Given the description of an element on the screen output the (x, y) to click on. 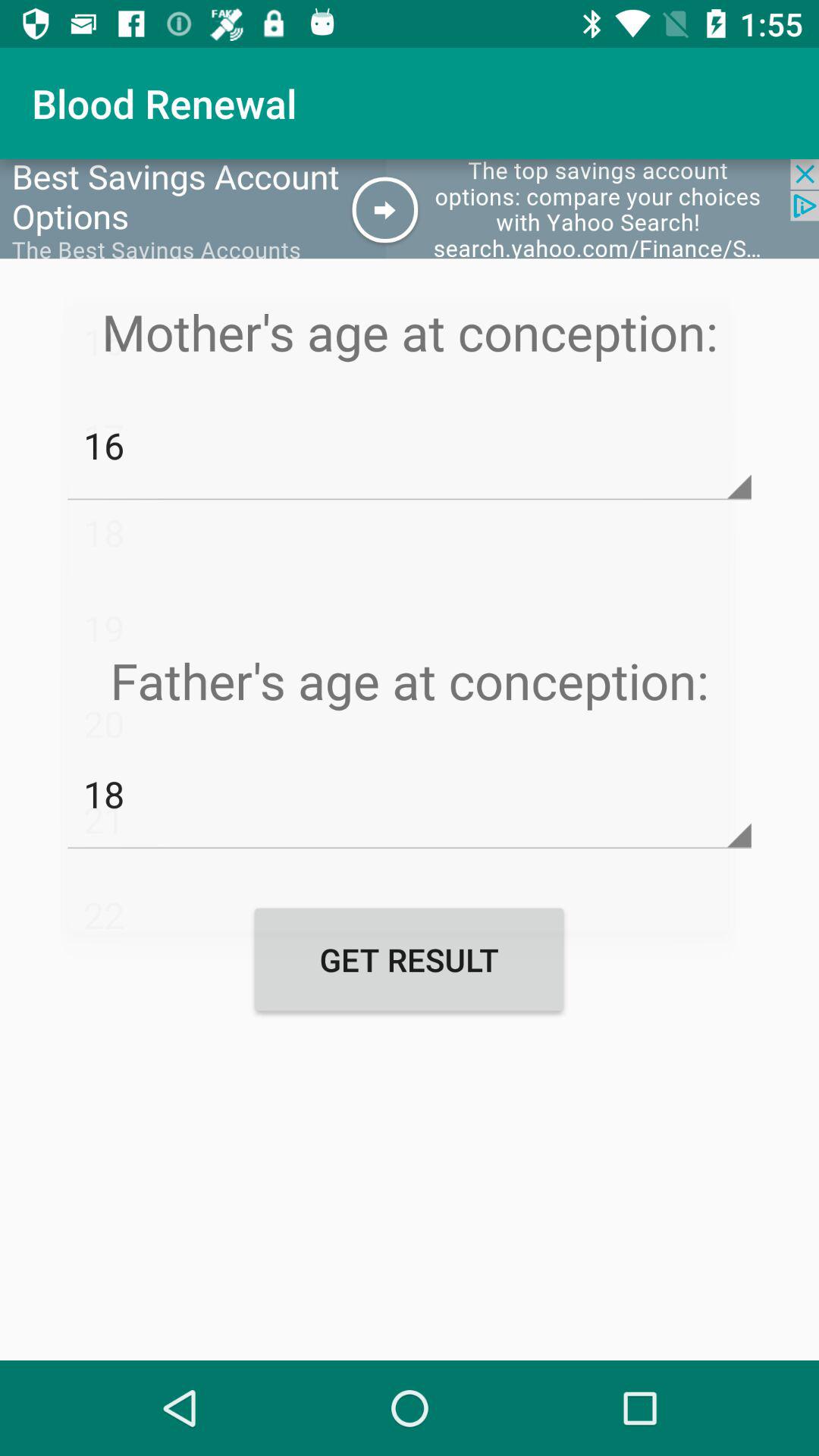
click the icon below blood renewal app (409, 208)
